Given the description of an element on the screen output the (x, y) to click on. 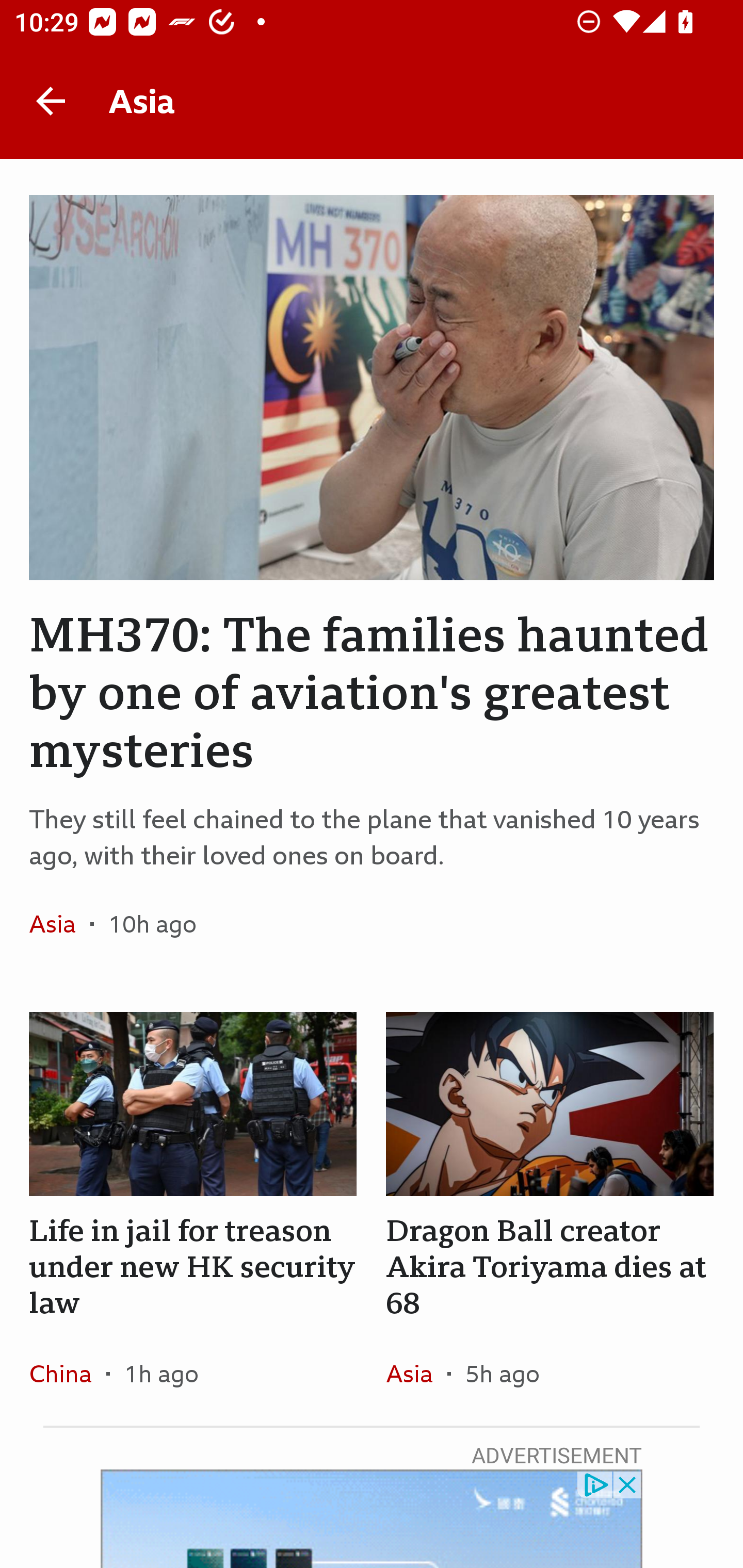
Back (50, 101)
Asia In the section Asia (59, 923)
China In the section China (67, 1373)
Asia In the section Asia (416, 1373)
privacy_small (595, 1484)
close_button (627, 1484)
